Given the description of an element on the screen output the (x, y) to click on. 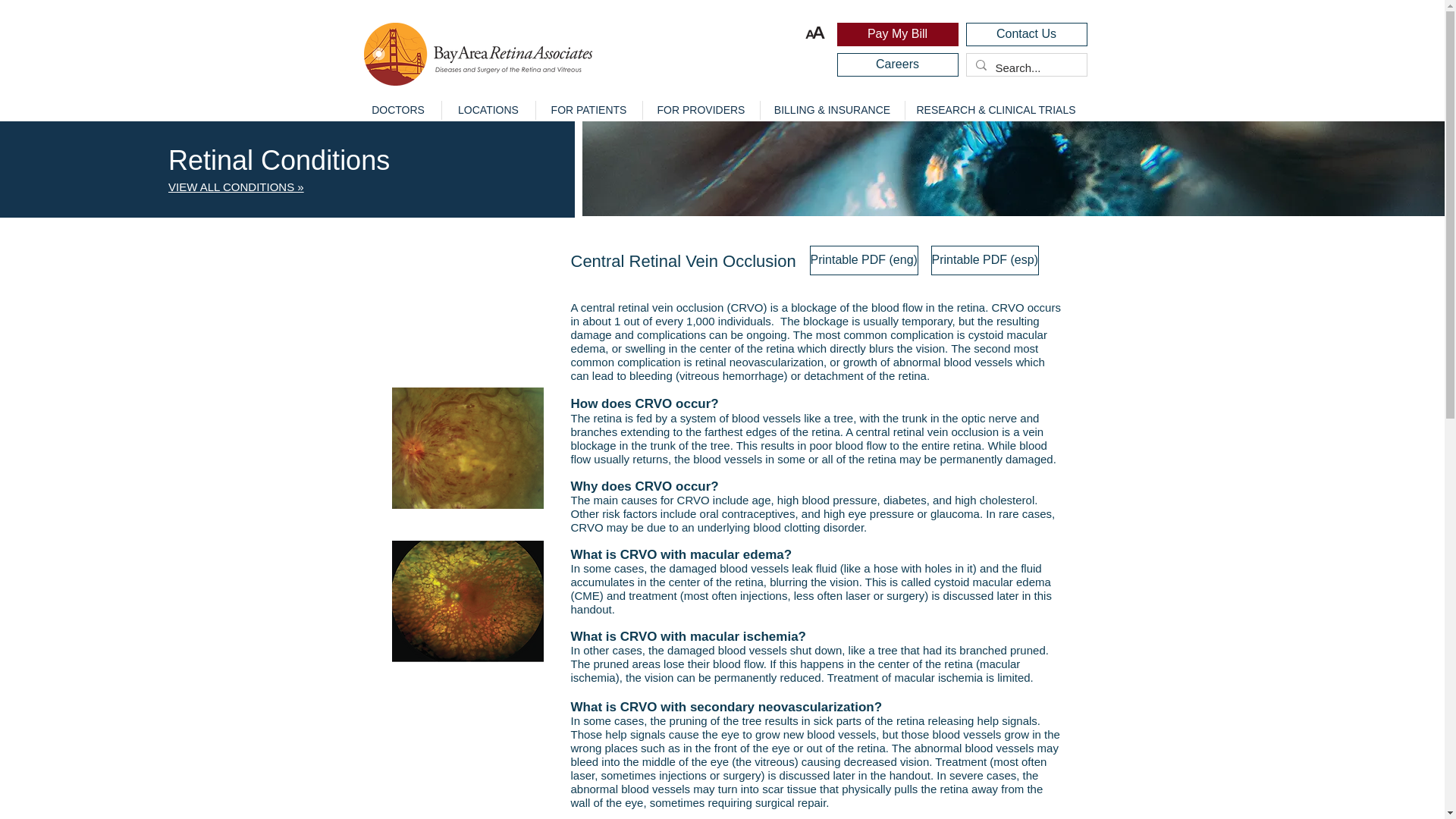
FOR PATIENTS (588, 109)
Pay My Bill (897, 33)
Contact Us (1026, 33)
DOCTORS (398, 109)
LOCATIONS (488, 109)
FOR PROVIDERS (700, 109)
Careers (897, 64)
